Given the description of an element on the screen output the (x, y) to click on. 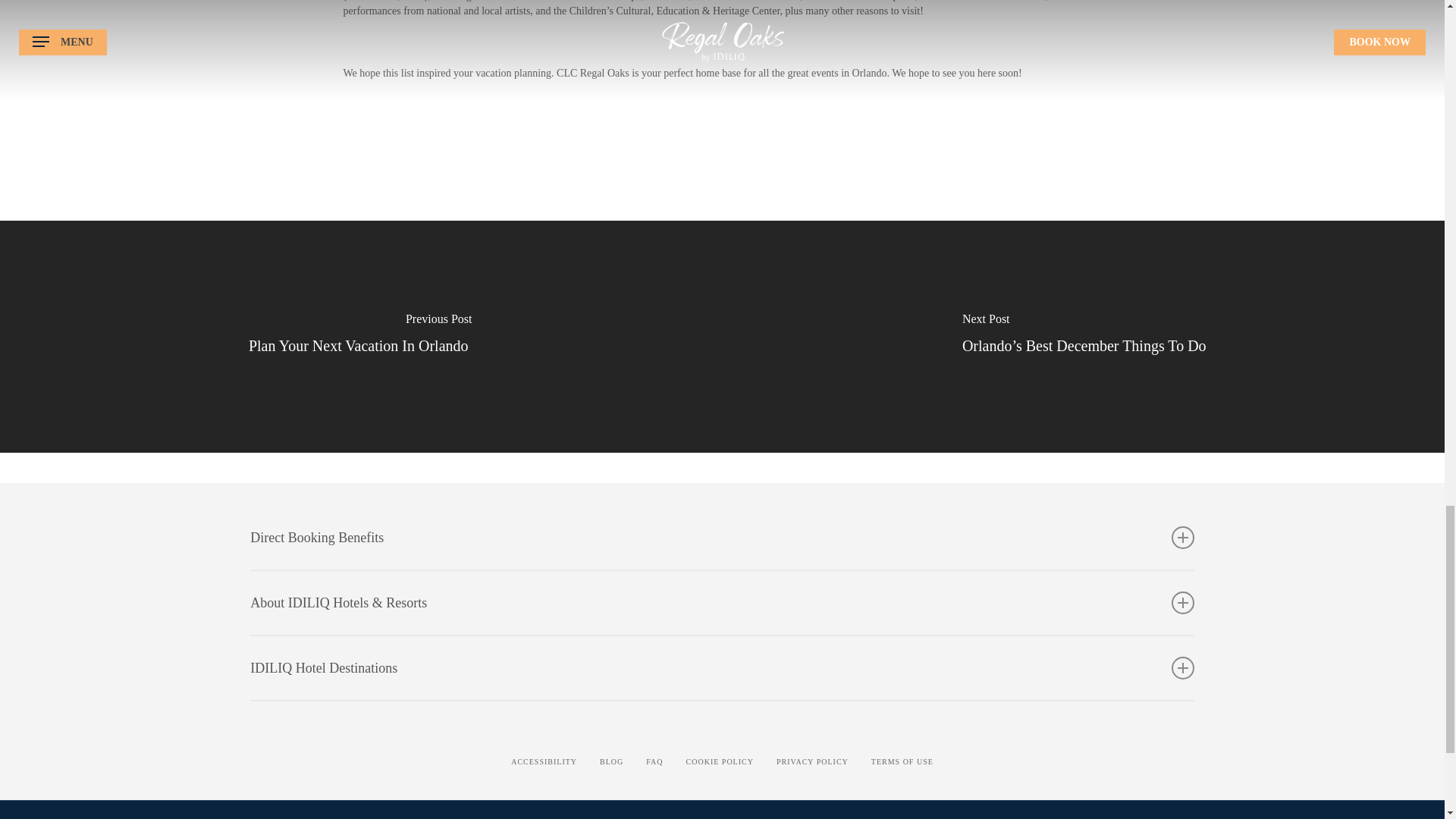
ACCESSIBILITY (543, 761)
Direct Booking Benefits (721, 537)
IDILIQ Hotel Destinations (721, 668)
PRIVACY POLICY (812, 761)
FAQ (654, 761)
TERMS OF USE (901, 761)
BLOG (611, 761)
COOKIE POLICY (719, 761)
